Given the description of an element on the screen output the (x, y) to click on. 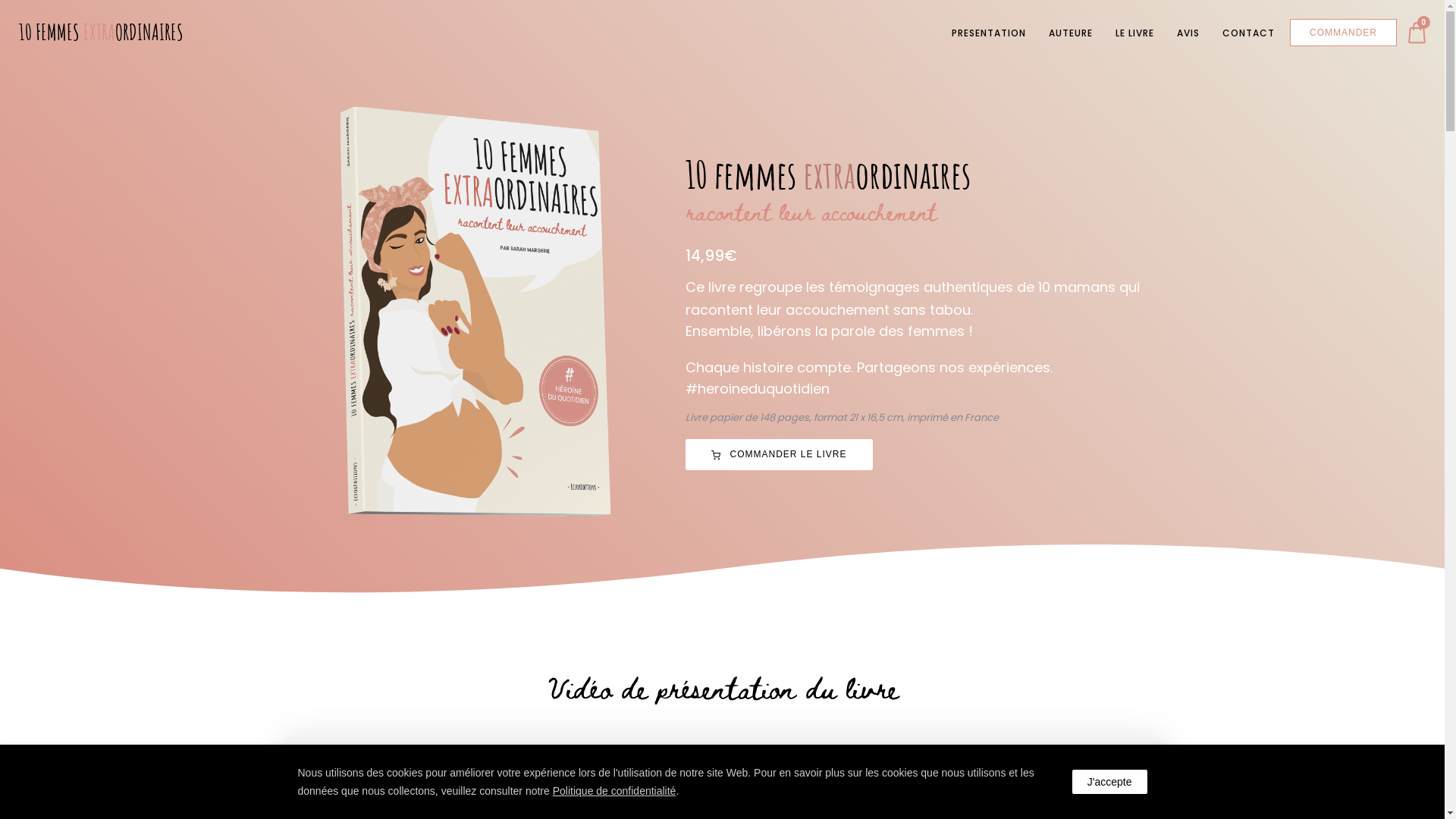
COMMANDER LE LIVRE Element type: text (778, 454)
CONTACT Element type: text (1248, 32)
PRESENTATION Element type: text (988, 32)
LE LIVRE Element type: text (1134, 32)
0 Element type: text (1416, 32)
AVIS Element type: text (1188, 32)
10 FEMMES EXTRAORDINAIRES Element type: text (100, 31)
10-femmes-extraordinaires-book-cover Element type: hover (475, 311)
COMMANDER Element type: text (1343, 32)
AUTEURE Element type: text (1070, 32)
